Given the description of an element on the screen output the (x, y) to click on. 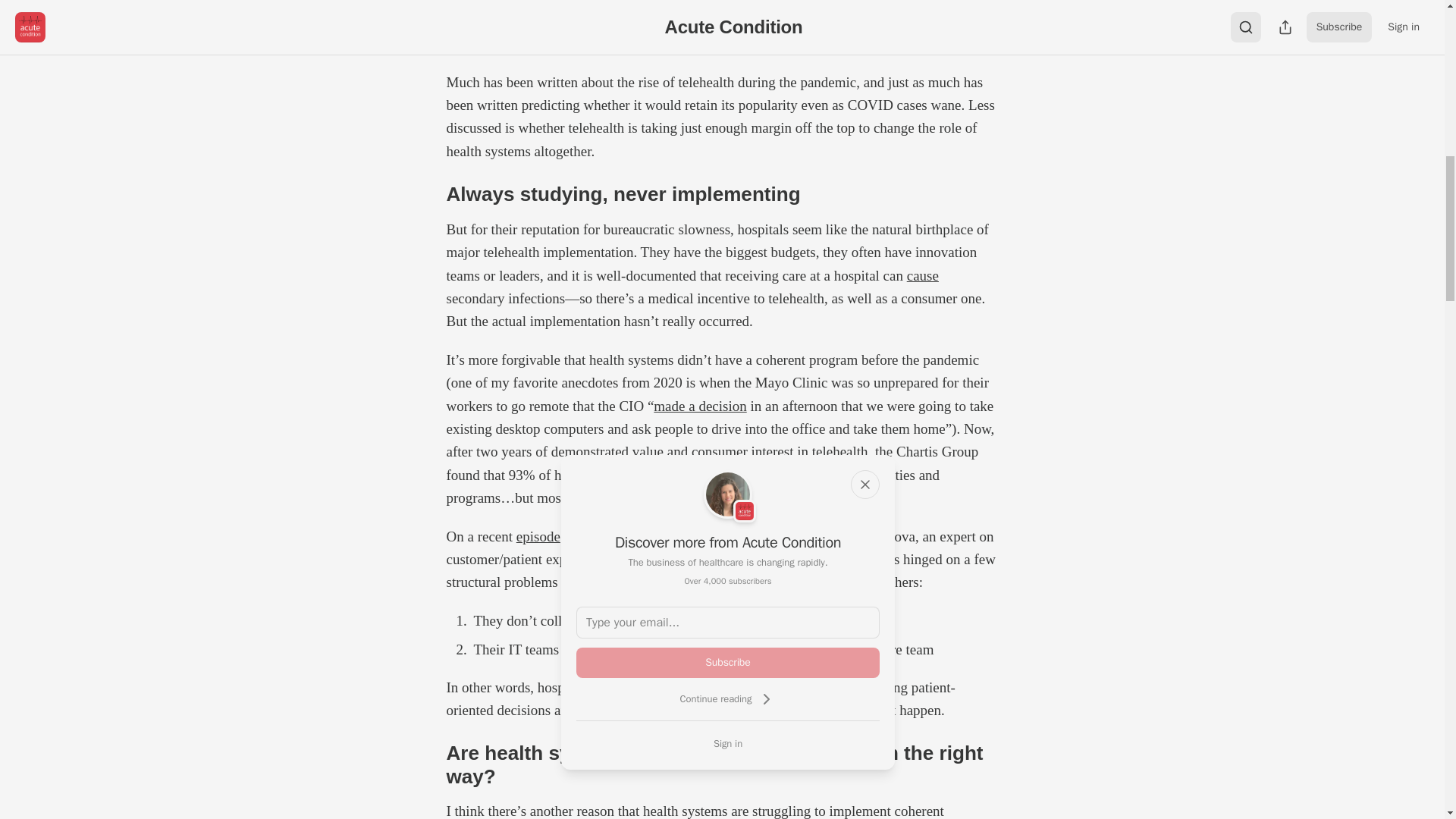
Subscribe (727, 662)
made a decision (699, 406)
Sign in (727, 743)
episode (538, 536)
cause (923, 275)
